Given the description of an element on the screen output the (x, y) to click on. 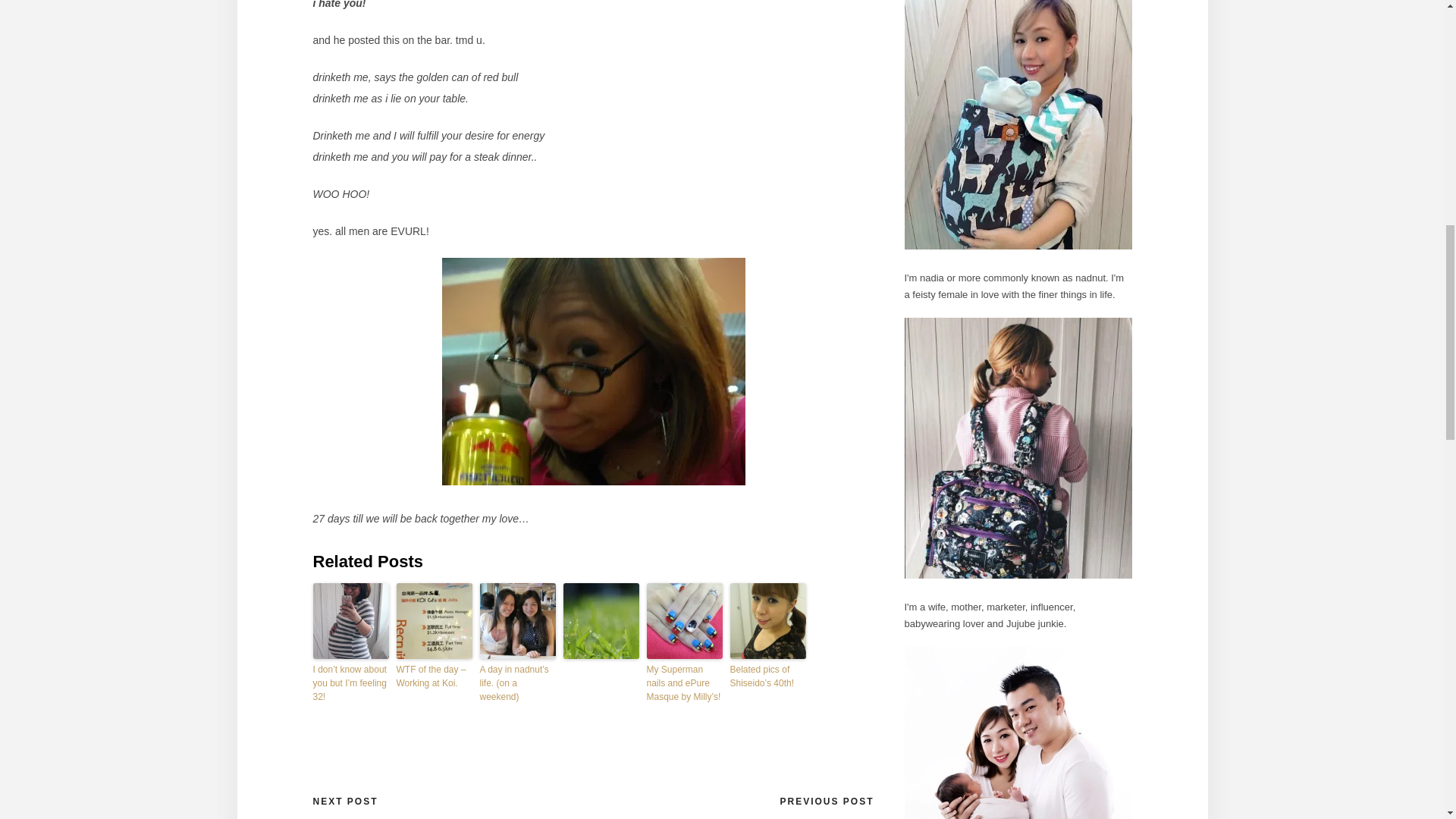
NEXT POST (345, 801)
PREVIOUS POST (825, 801)
